Given the description of an element on the screen output the (x, y) to click on. 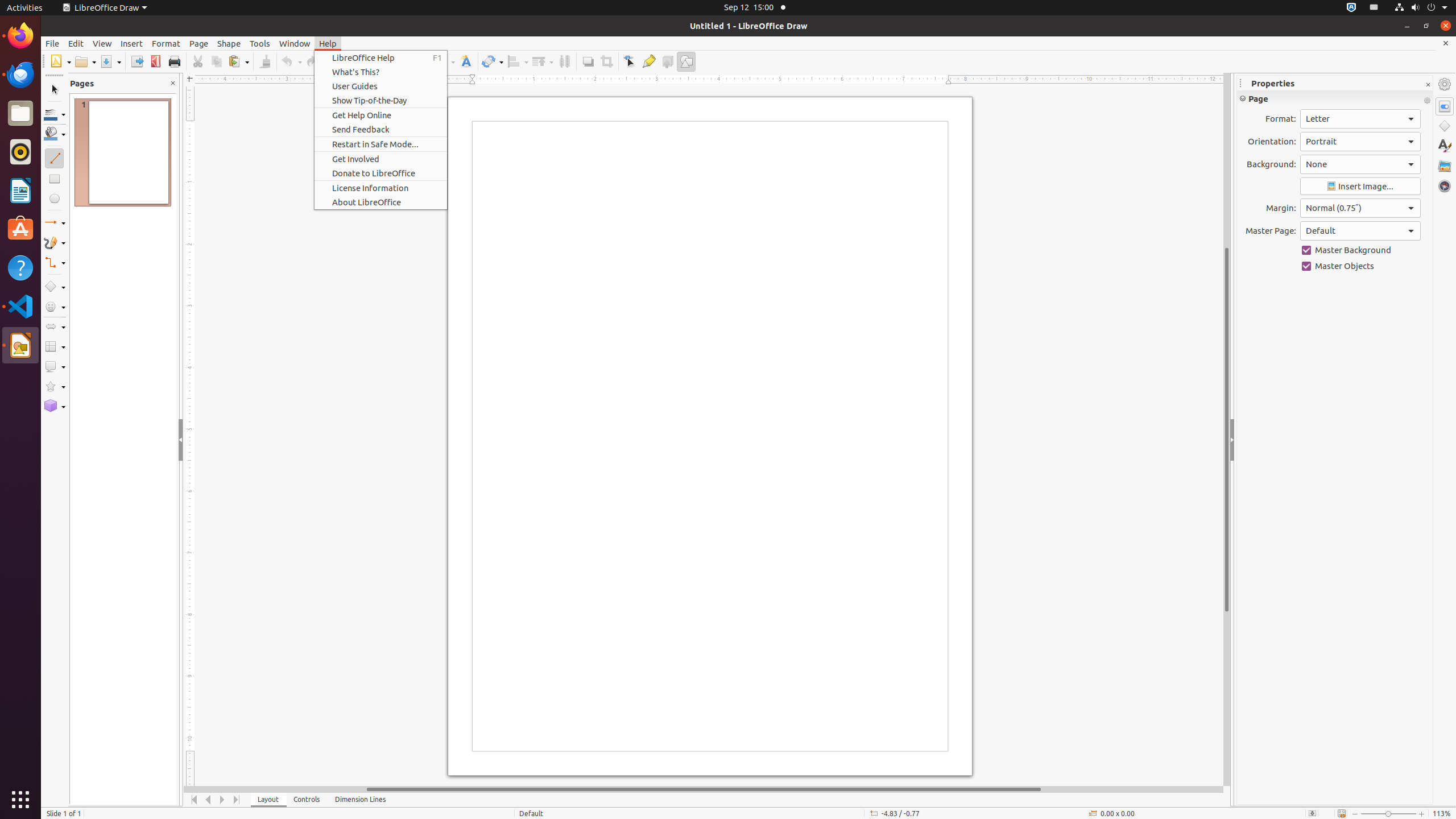
Fontwork Style Element type: toggle-button (465, 61)
Move Left Element type: push-button (208, 799)
:1.72/StatusNotifierItem Element type: menu (1350, 7)
Controls Element type: page-tab (307, 799)
Edit Element type: menu (75, 43)
